Given the description of an element on the screen output the (x, y) to click on. 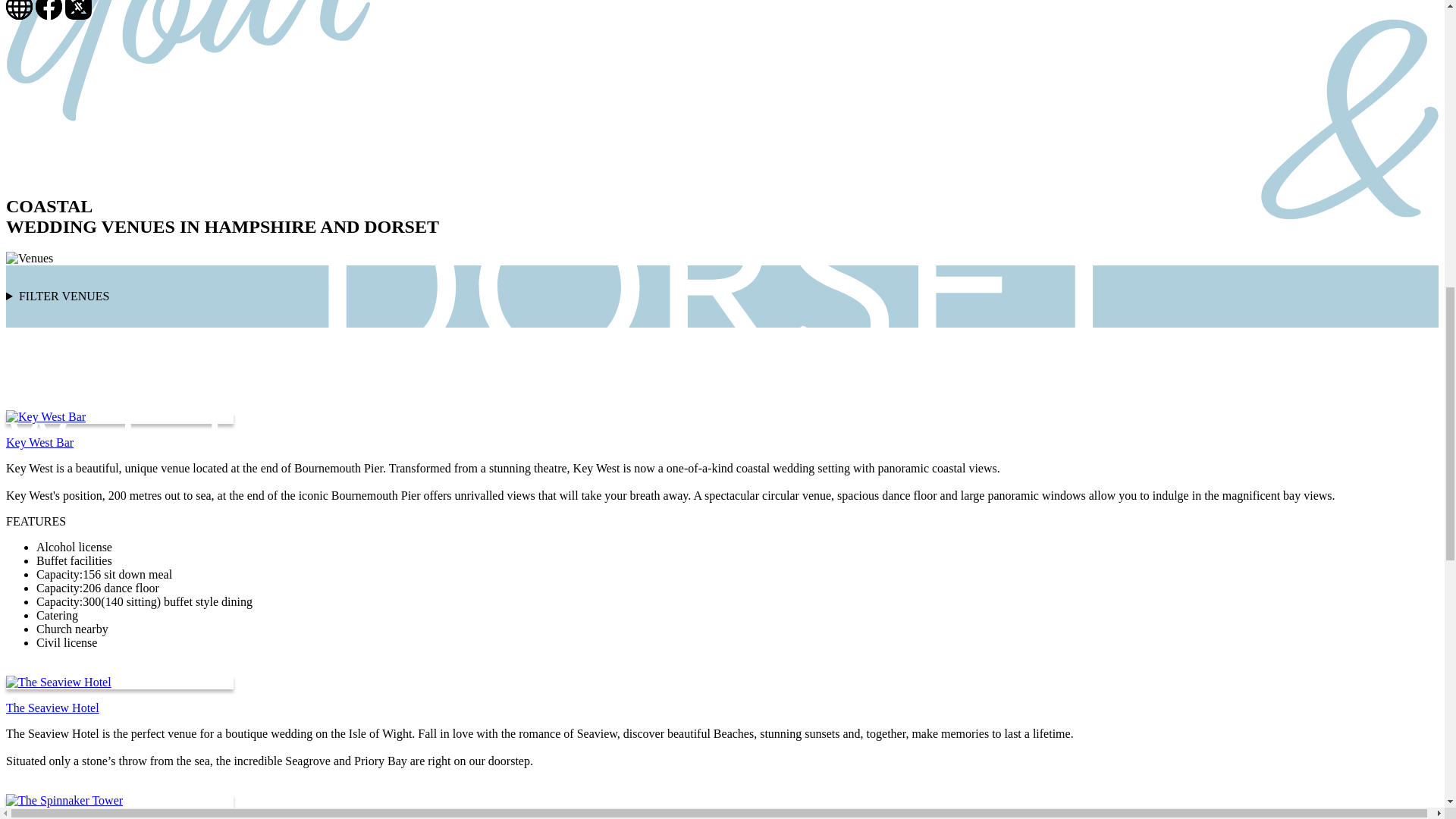
Key West Bar (39, 441)
See the Key West Bar page on Facebook (48, 15)
FIND OUT MORE (52, 402)
Key West Bar (45, 416)
View the The Seaview Hotel profile (52, 667)
View the Key West Bar profile (52, 402)
See the Key West Bar page on Instagram (78, 15)
FIND OUT MORE (52, 667)
See the Key West Bar website (18, 15)
Discover more about Key West Bar (39, 441)
